Given the description of an element on the screen output the (x, y) to click on. 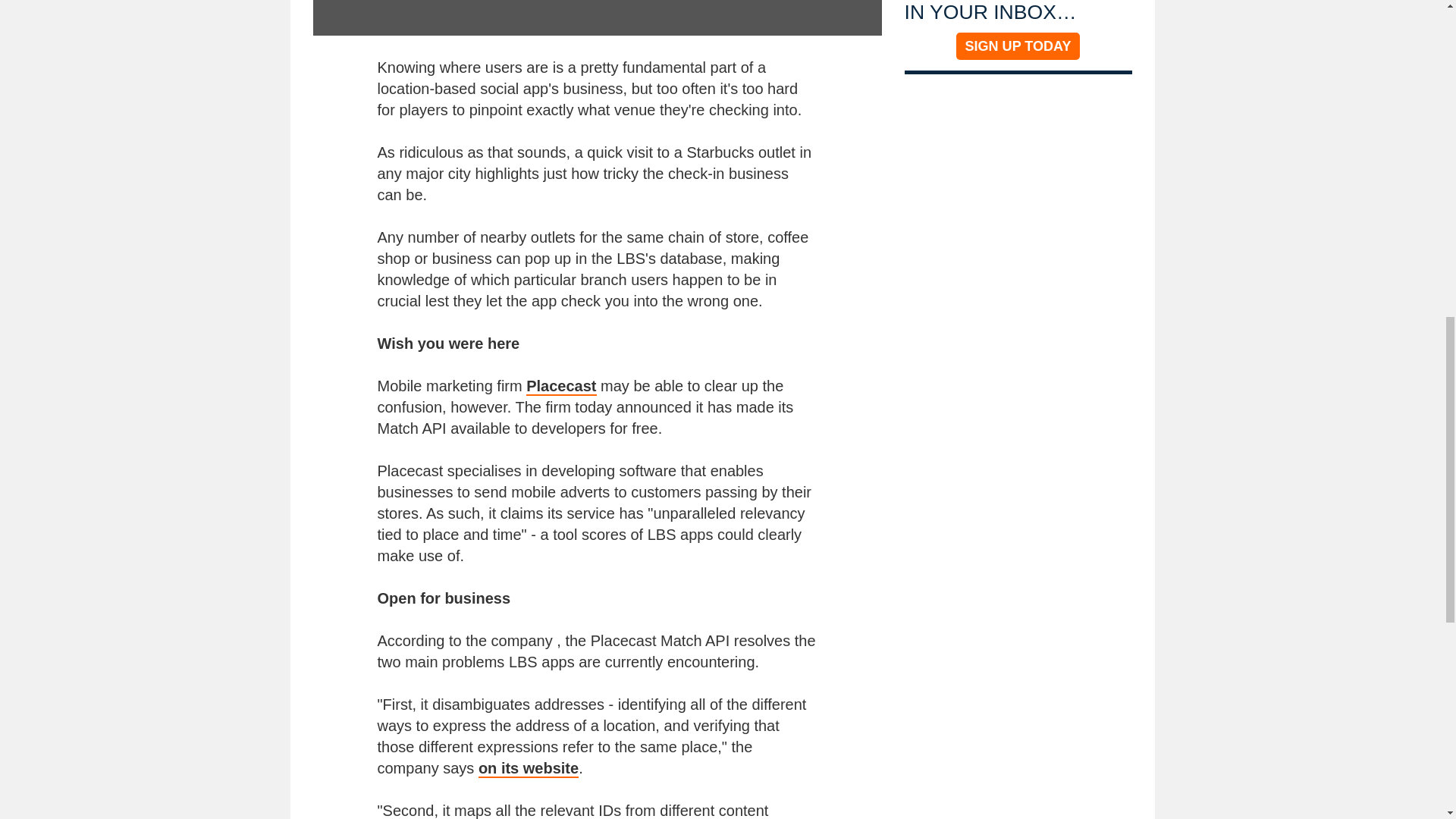
Placecast (560, 386)
on its website (528, 769)
